Given the description of an element on the screen output the (x, y) to click on. 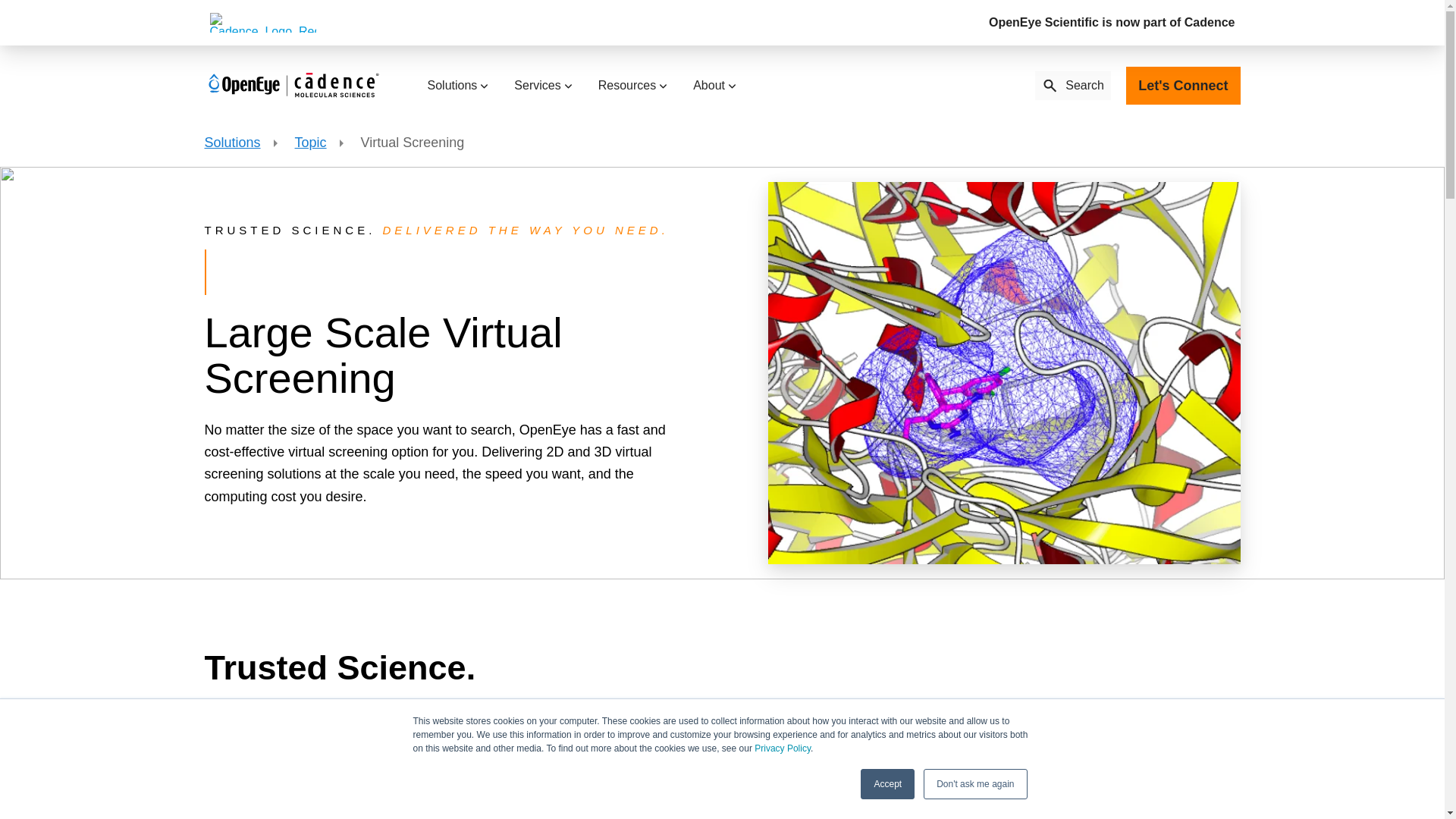
Solutions (456, 85)
Accept (887, 784)
Privacy Policy (782, 747)
Don't ask me again (974, 784)
